Given the description of an element on the screen output the (x, y) to click on. 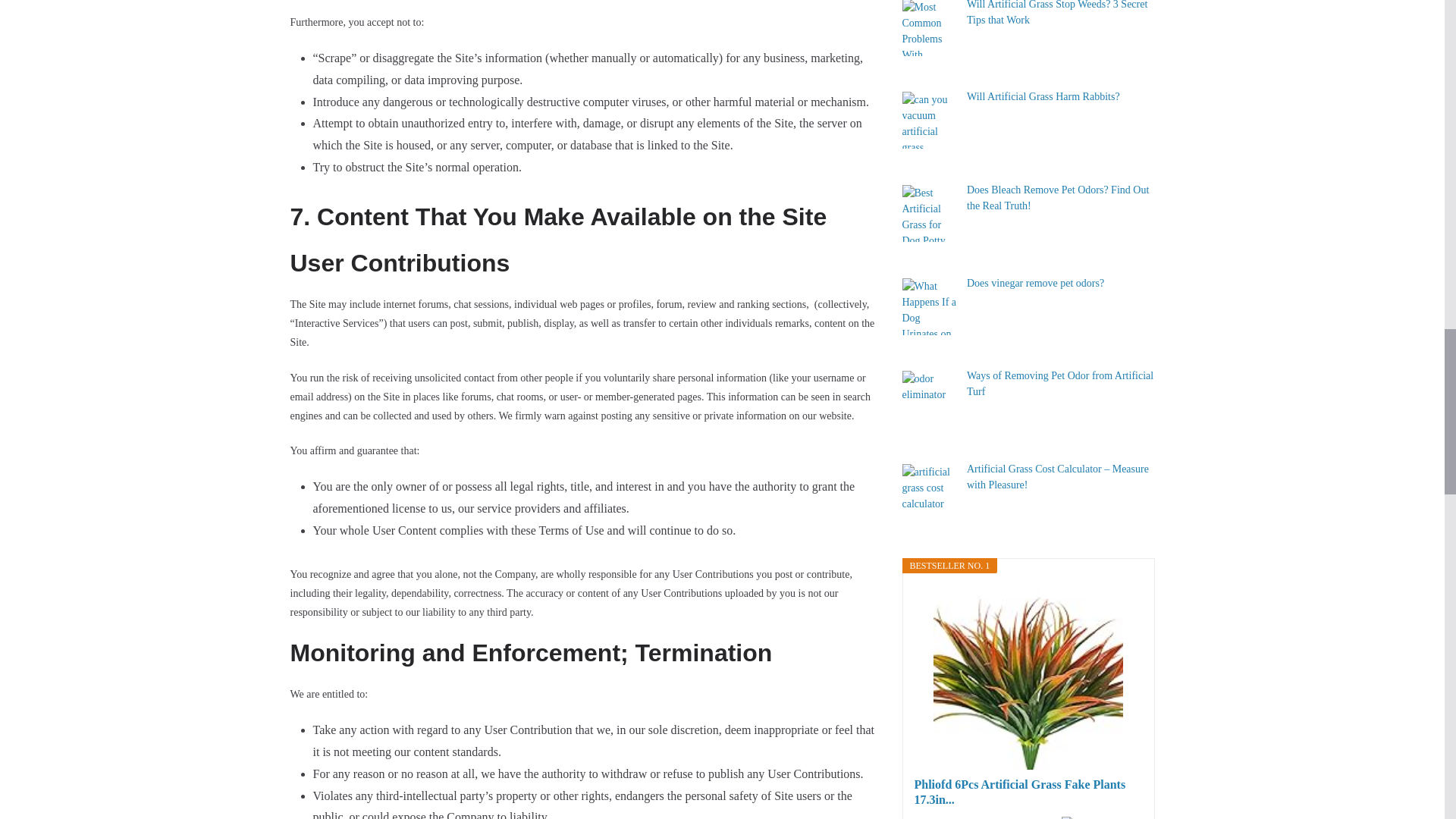
Will Artificial Grass Stop Weeds? 3 Secret Tips that Work (1056, 12)
Will Artificial Grass Harm Rabbits? (1042, 96)
Amazon Prime (1101, 817)
Ways of Removing Pet Odor from Artificial Turf (1059, 383)
Does vinegar remove pet odors? (1034, 283)
Phliofd 6Pcs Artificial Grass Fake Plants 17.3in... (1028, 792)
Does Bleach Remove Pet Odors? Find Out the Real Truth! (1057, 197)
